Given the description of an element on the screen output the (x, y) to click on. 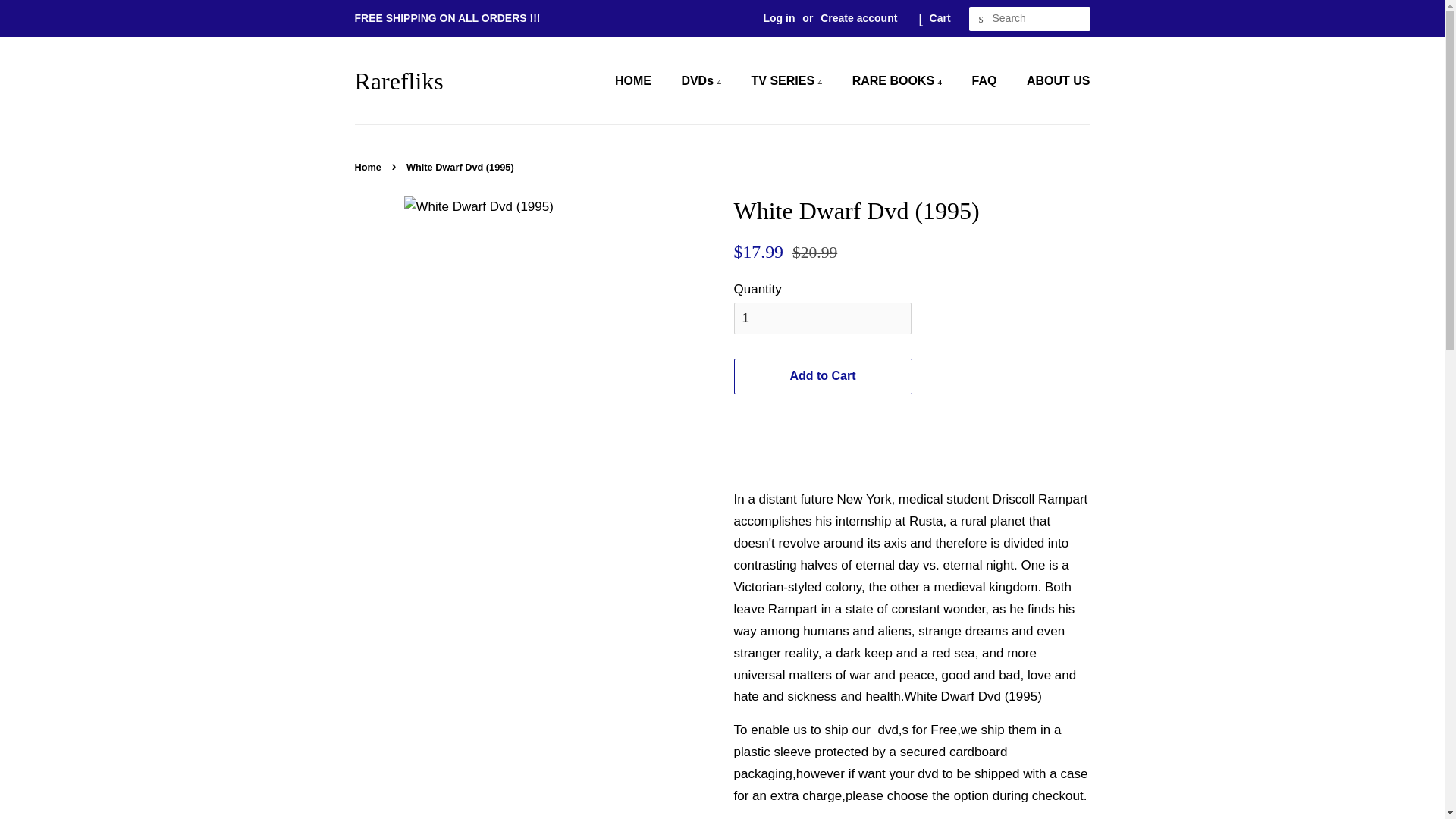
1 (822, 318)
HOME (640, 80)
Log in (778, 18)
Create account (858, 18)
Back to the frontpage (370, 166)
Search (980, 18)
Rarefliks (399, 80)
Cart (940, 18)
DVDs (702, 80)
